Given the description of an element on the screen output the (x, y) to click on. 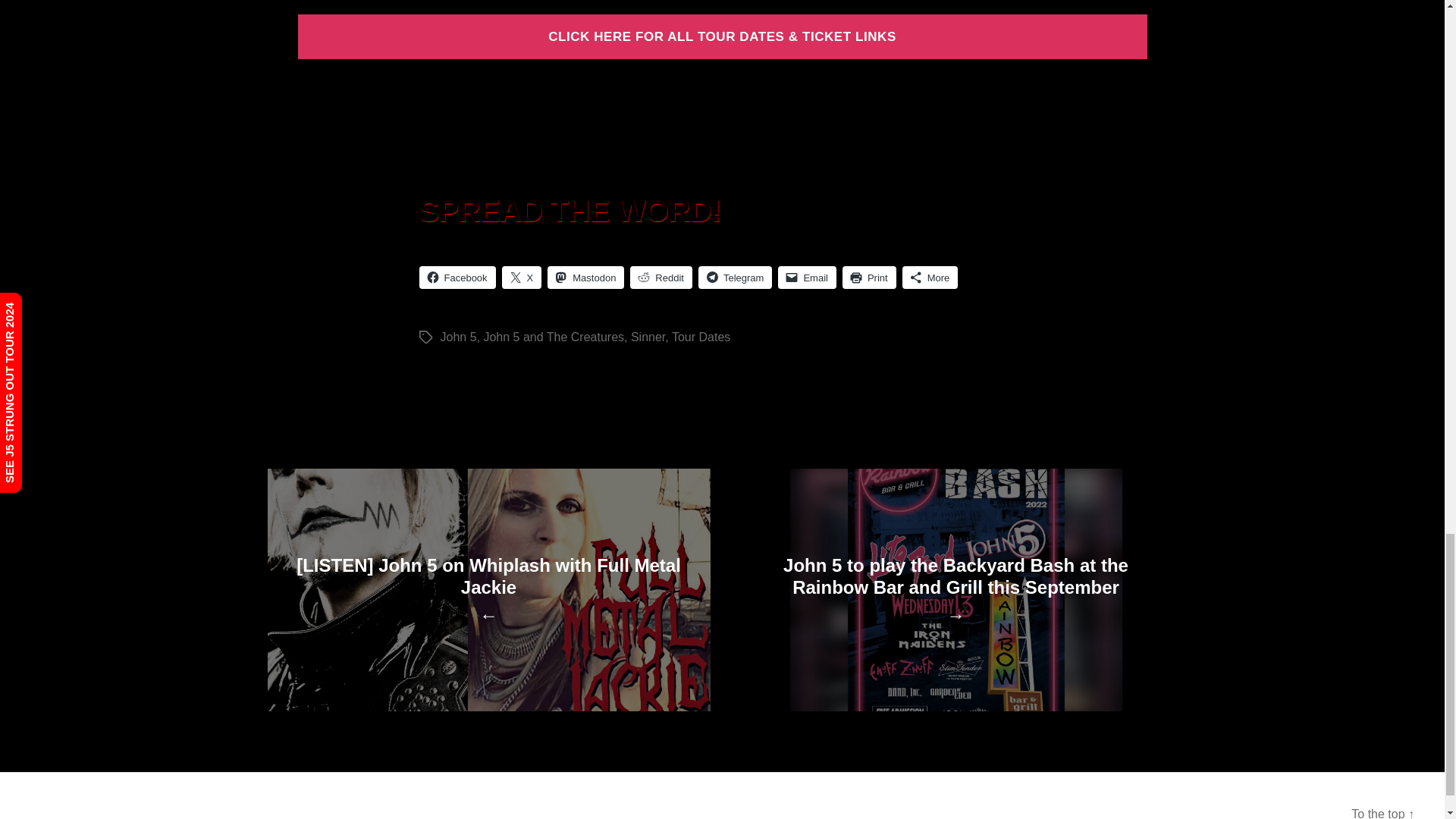
Telegram (734, 277)
X (521, 277)
Email (806, 277)
More (930, 277)
Reddit (661, 277)
Print (869, 277)
Facebook (457, 277)
Mastodon (585, 277)
